Given the description of an element on the screen output the (x, y) to click on. 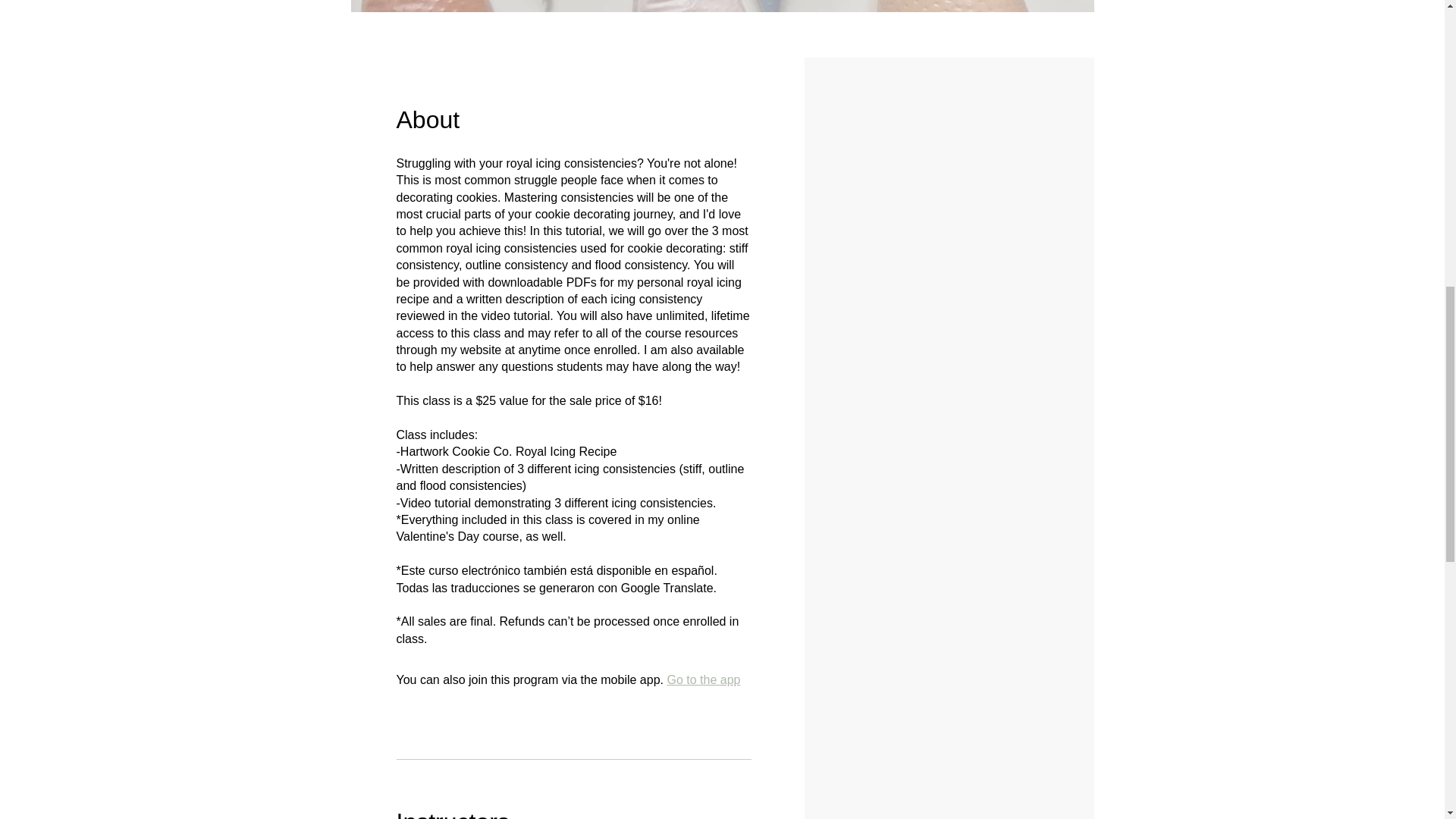
Go to the app (702, 679)
